Given the description of an element on the screen output the (x, y) to click on. 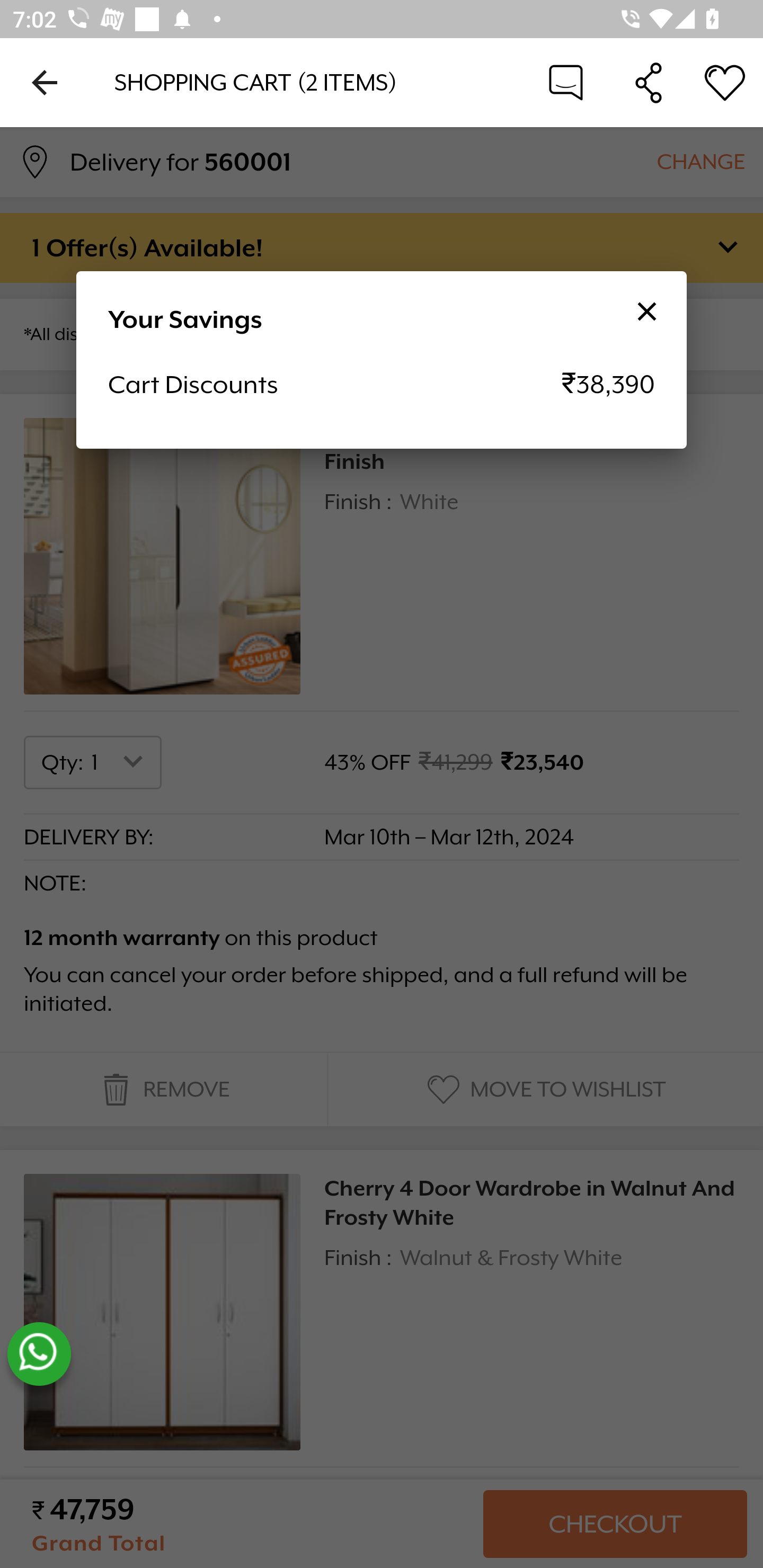
Navigate up (44, 82)
Chat (565, 81)
Share Cart (648, 81)
Wishlist (724, 81)
whatsapp (38, 1353)
